Given the description of an element on the screen output the (x, y) to click on. 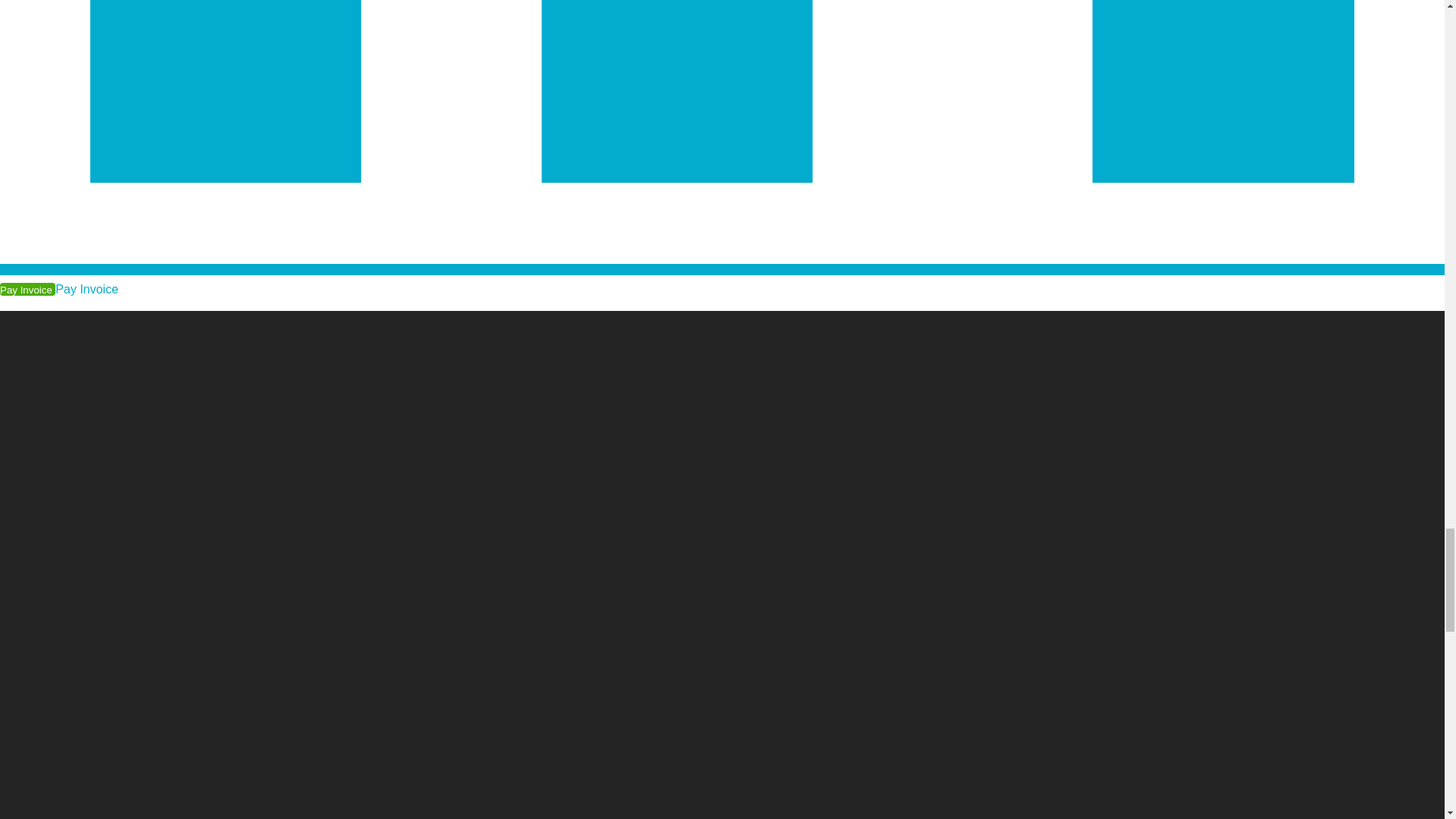
Pay Invoice (86, 288)
